Given the description of an element on the screen output the (x, y) to click on. 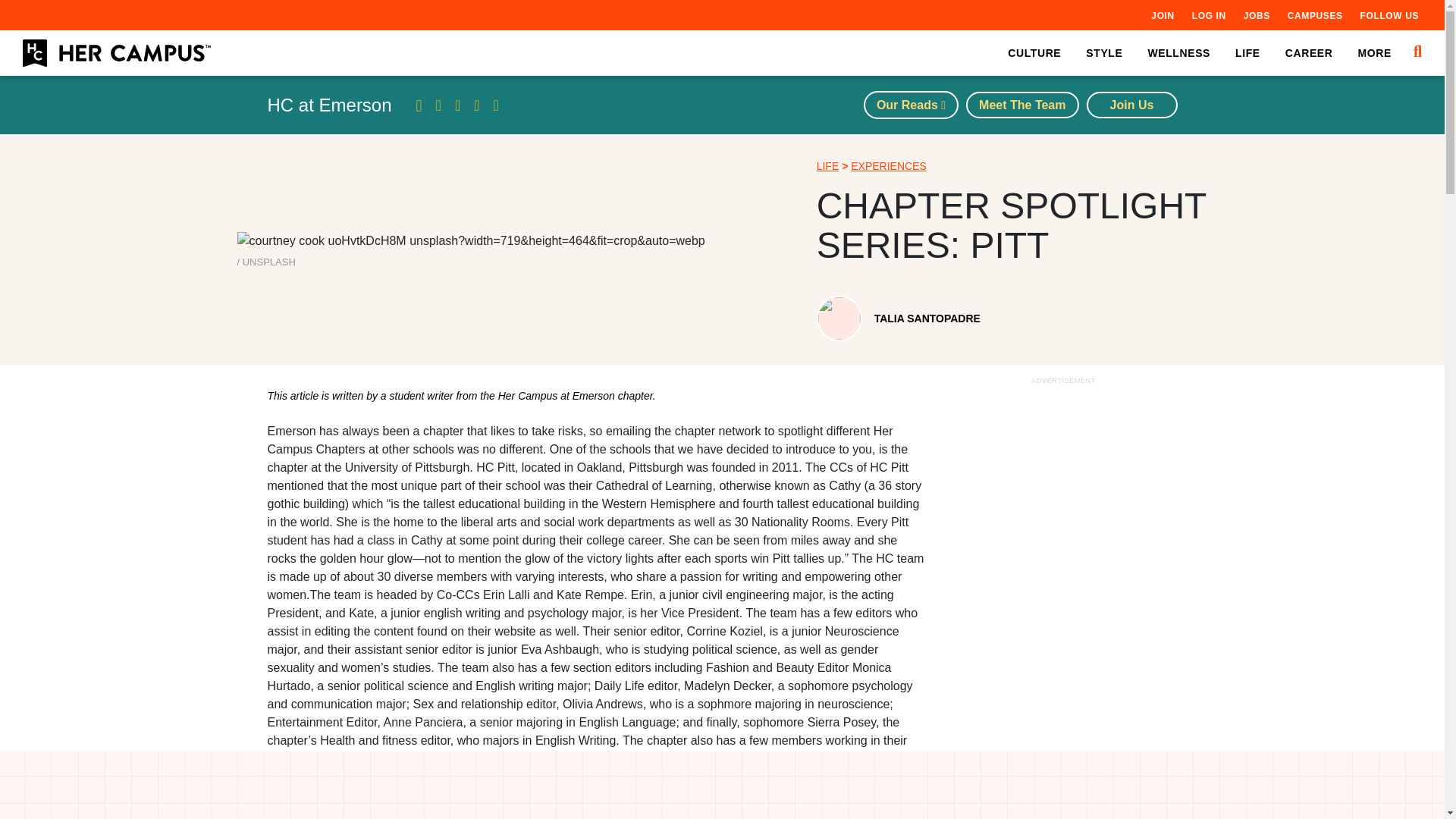
LOG IN (1208, 15)
JOBS (1256, 15)
JOIN (1162, 15)
Chapter Spotlight Series: Pitt 1 (469, 240)
CAMPUSES (1314, 15)
